Given the description of an element on the screen output the (x, y) to click on. 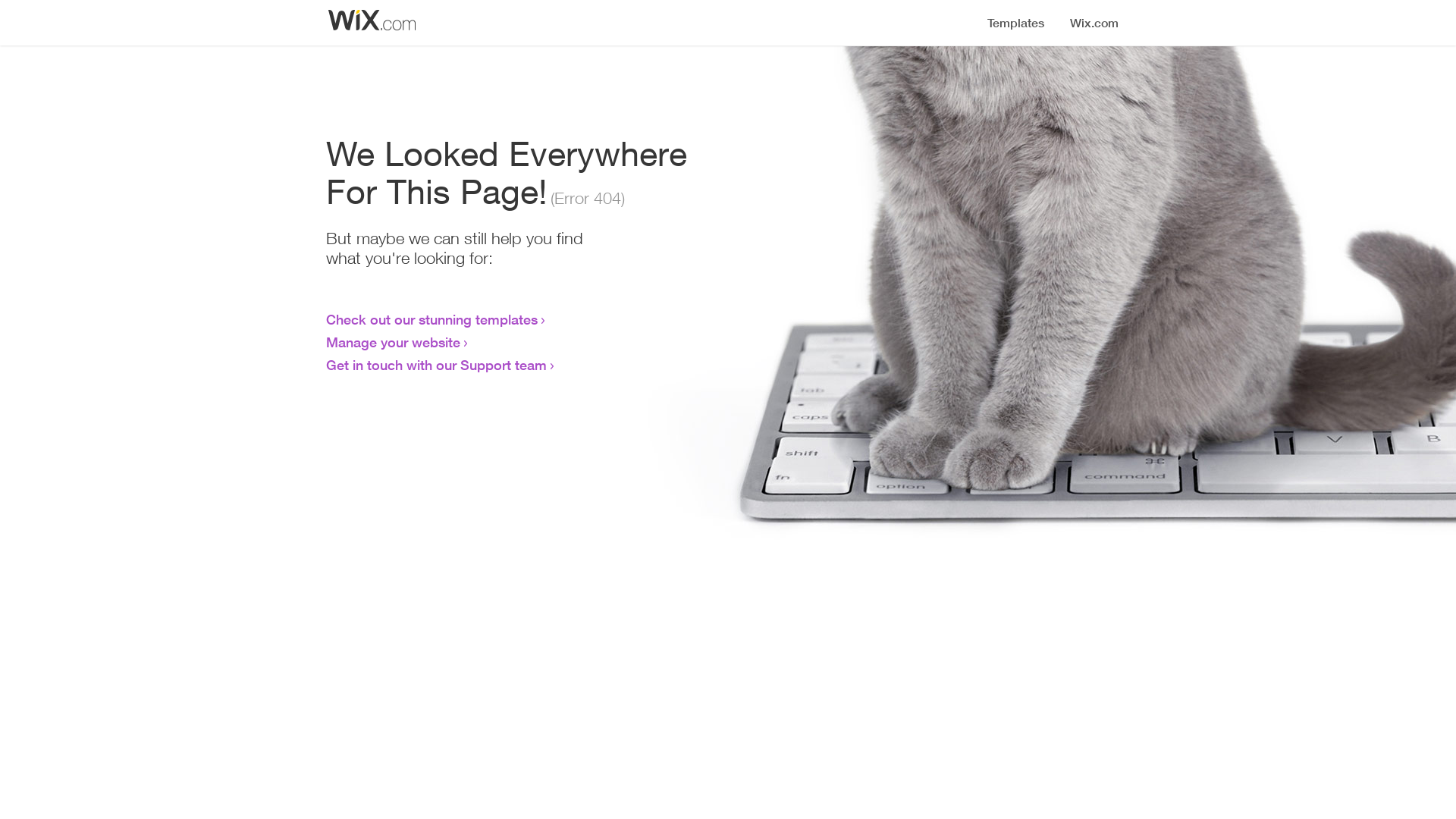
Get in touch with our Support team Element type: text (436, 364)
Check out our stunning templates Element type: text (431, 318)
Manage your website Element type: text (393, 341)
